Given the description of an element on the screen output the (x, y) to click on. 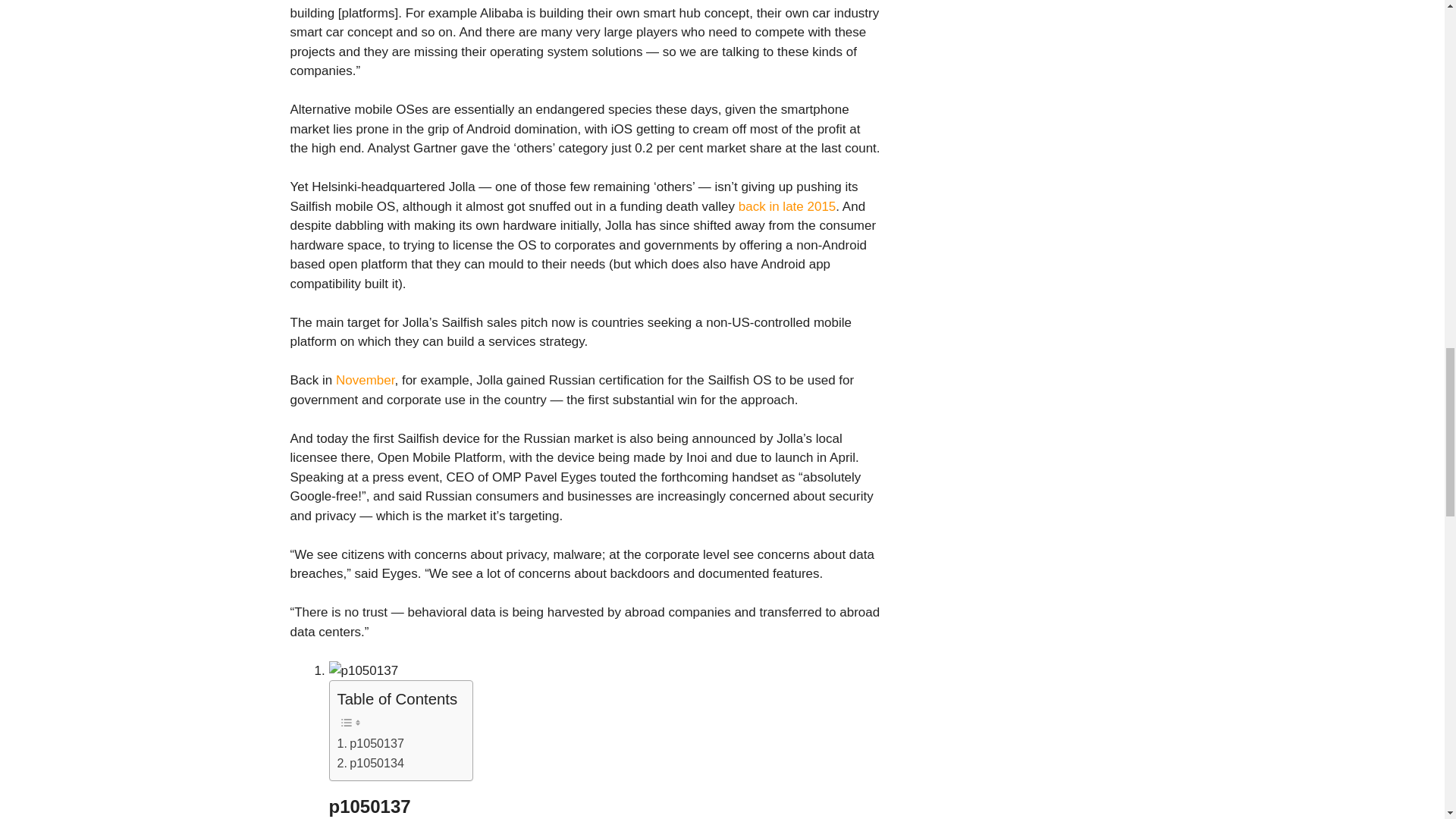
back in late 2015 (786, 206)
p1050137 (370, 743)
November (365, 380)
p1050137 (370, 743)
p1050134 (370, 763)
p1050134 (370, 763)
